Given the description of an element on the screen output the (x, y) to click on. 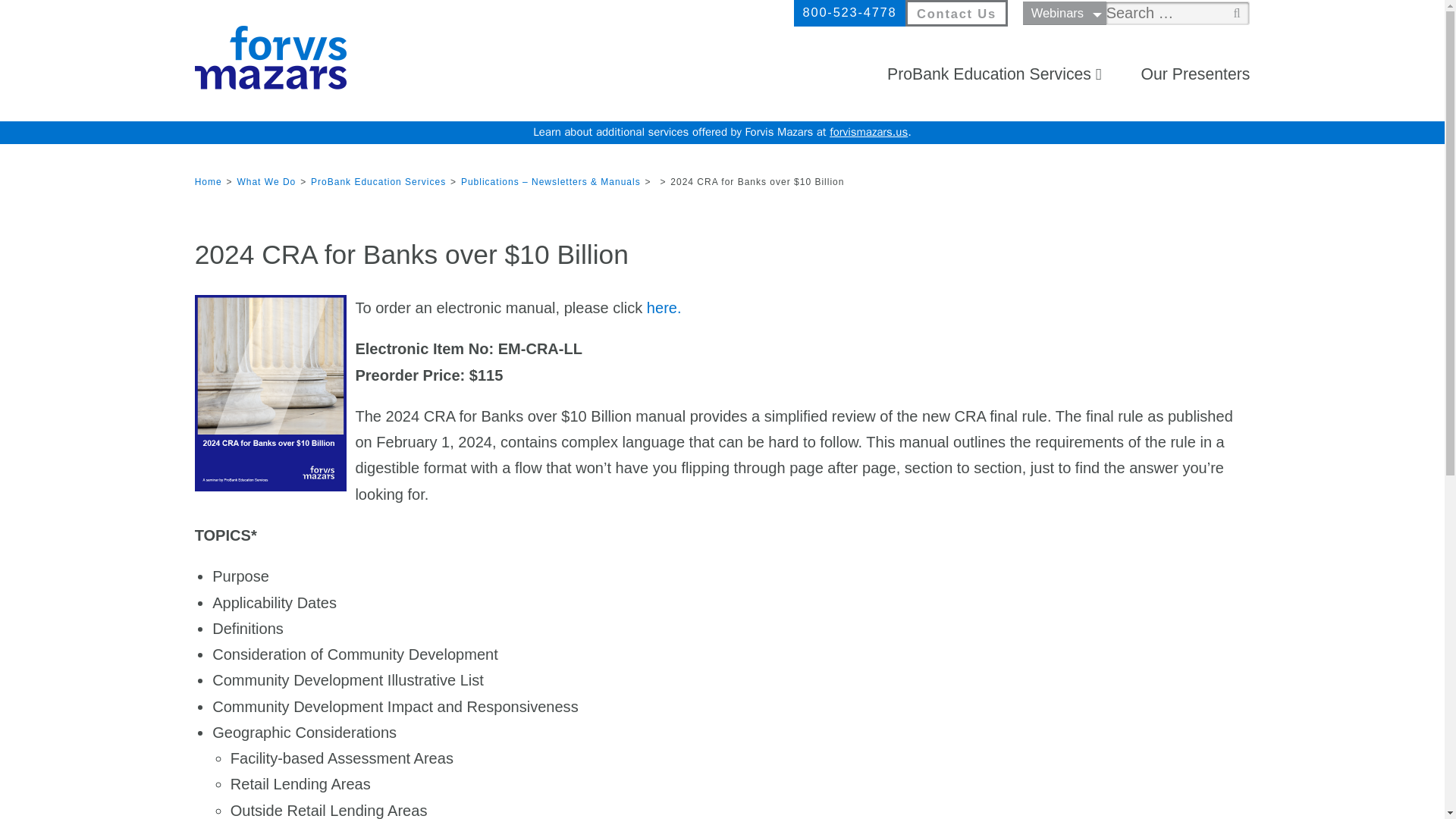
Home (208, 181)
Search for: (1178, 13)
800-523-4778 (849, 12)
here. (663, 307)
ProBank Education Services (988, 73)
What We Do (265, 181)
Our Presenters (1194, 73)
forvismazars.us (868, 131)
ProBank Education Services (378, 181)
Contact Us (955, 13)
